Given the description of an element on the screen output the (x, y) to click on. 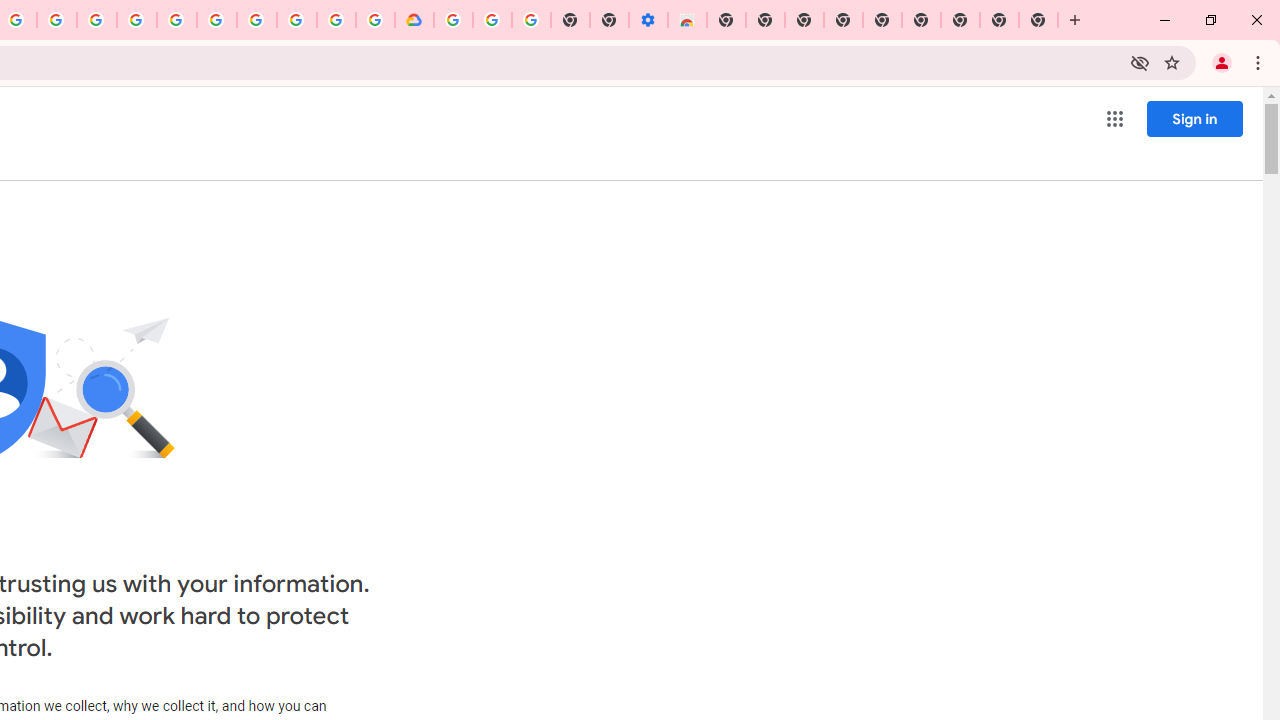
Restore (1210, 20)
New Tab (1075, 20)
Turn cookies on or off - Computer - Google Account Help (531, 20)
Chrome (1260, 62)
Chrome Web Store - Accessibility extensions (687, 20)
Bookmark this tab (1171, 62)
Minimize (1165, 20)
Browse the Google Chrome Community - Google Chrome Community (375, 20)
Sign in - Google Accounts (177, 20)
Sign in - Google Accounts (453, 20)
Ad Settings (136, 20)
Google apps (1114, 118)
Create your Google Account (56, 20)
